Given the description of an element on the screen output the (x, y) to click on. 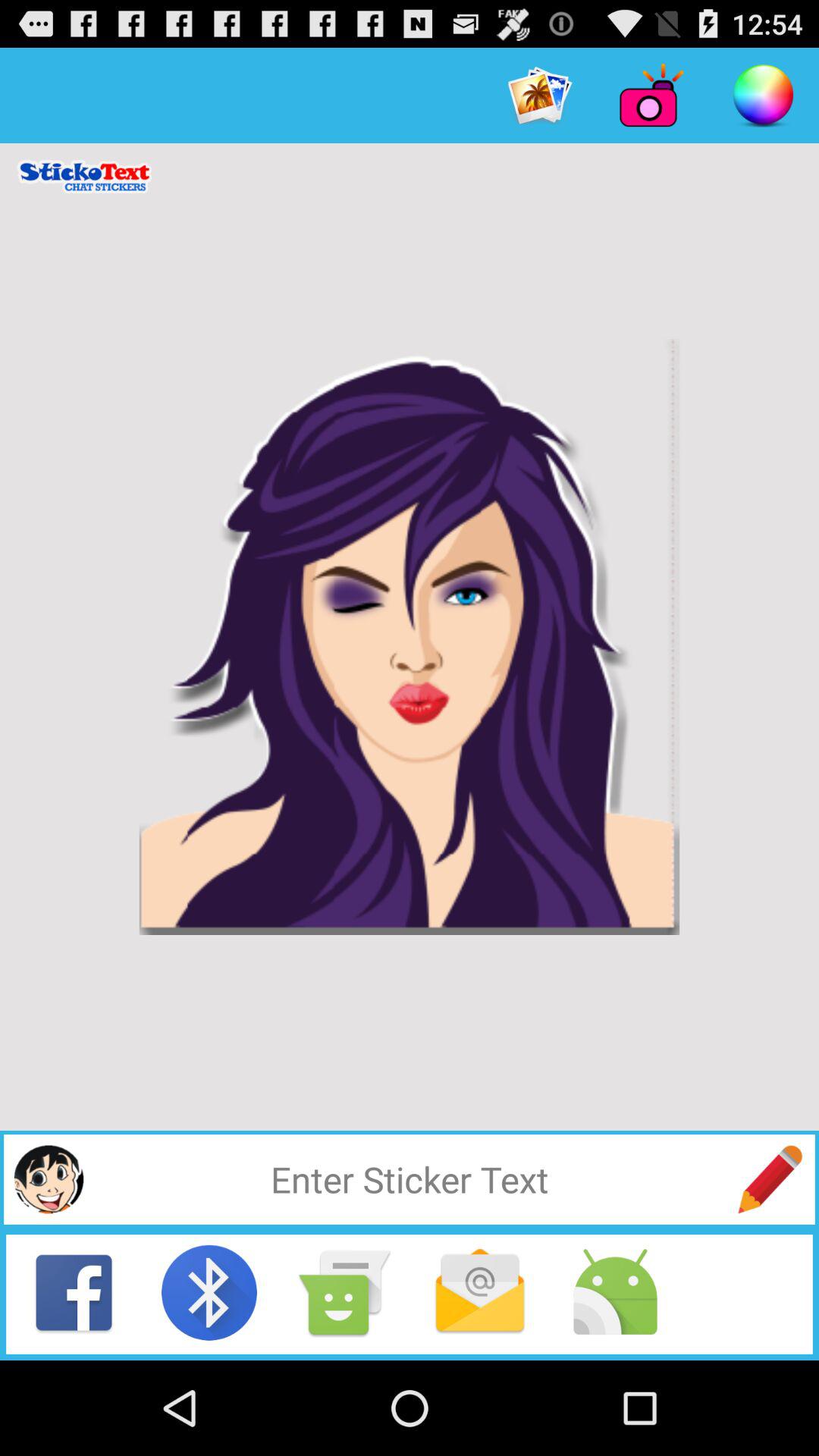
choose sticker (48, 1179)
